Given the description of an element on the screen output the (x, y) to click on. 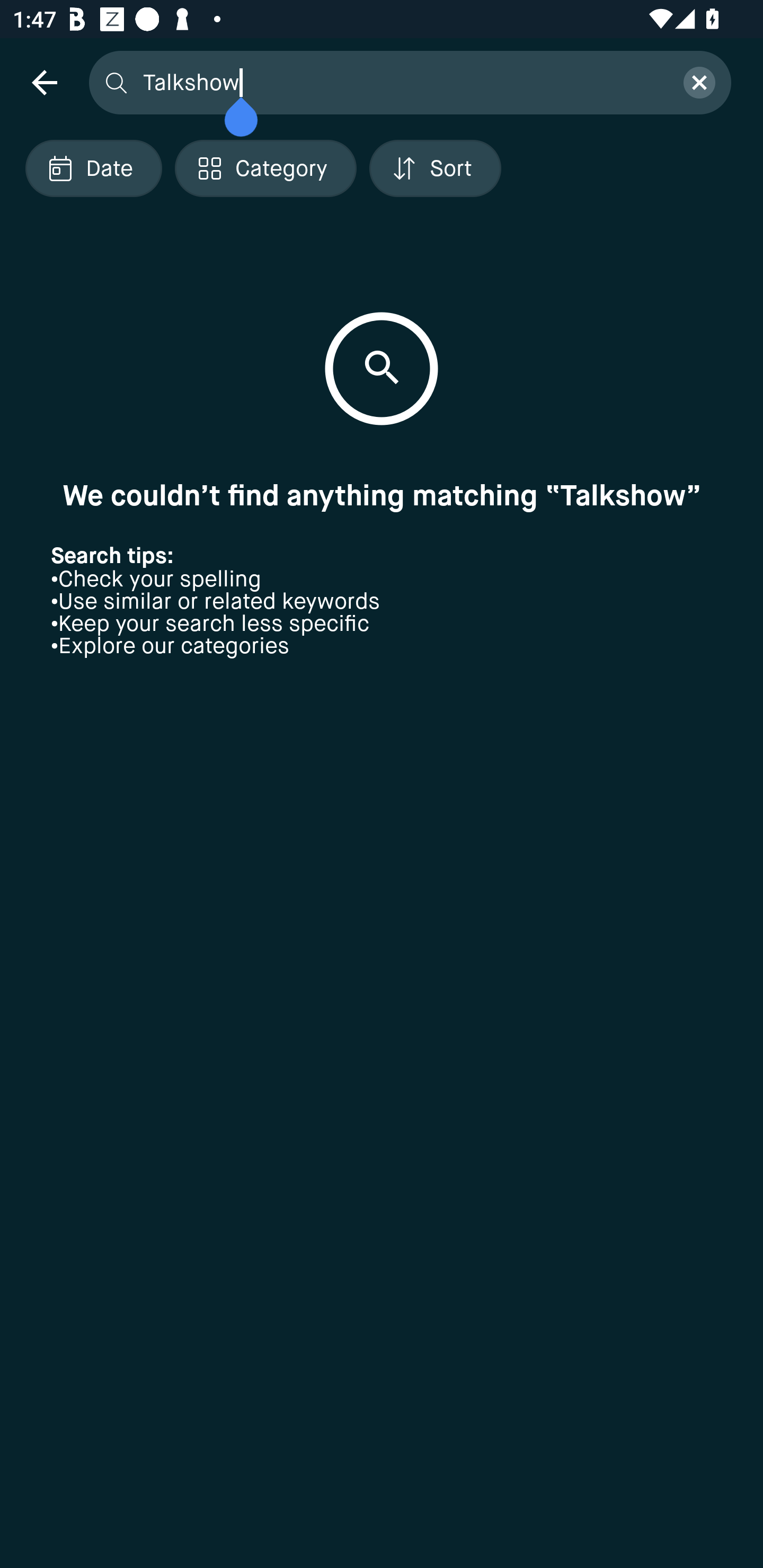
navigation icon (44, 81)
Talkshow (402, 81)
Localized description Date (93, 168)
Localized description Category (265, 168)
Localized description Sort (435, 168)
We couldn’t find anything matching “Talkshow” (381, 495)
